Given the description of an element on the screen output the (x, y) to click on. 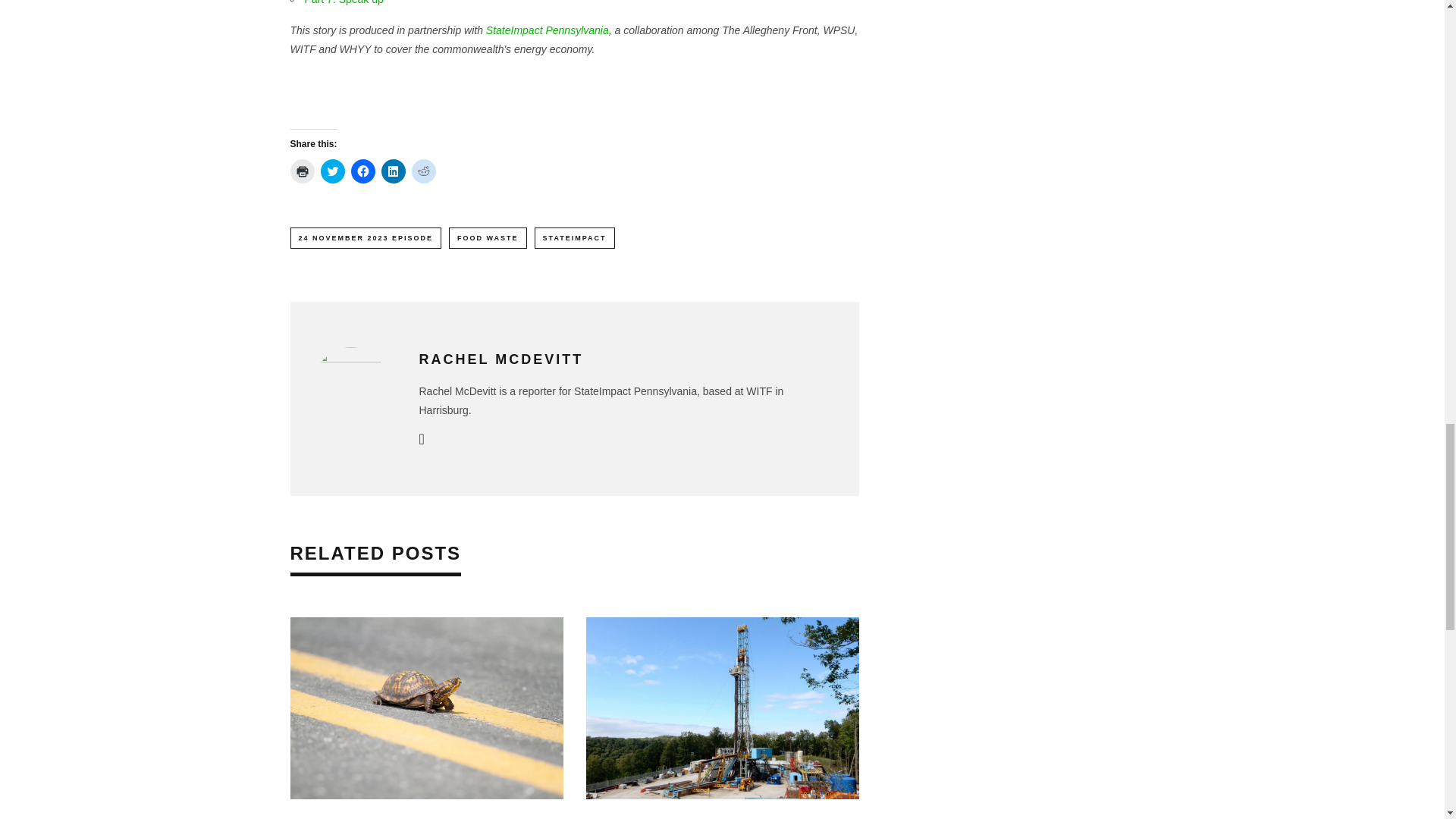
Click to print (301, 170)
Click to share on Facebook (362, 170)
Click to share on Reddit (422, 170)
Click to share on Twitter (331, 170)
Click to share on LinkedIn (392, 170)
